Given the description of an element on the screen output the (x, y) to click on. 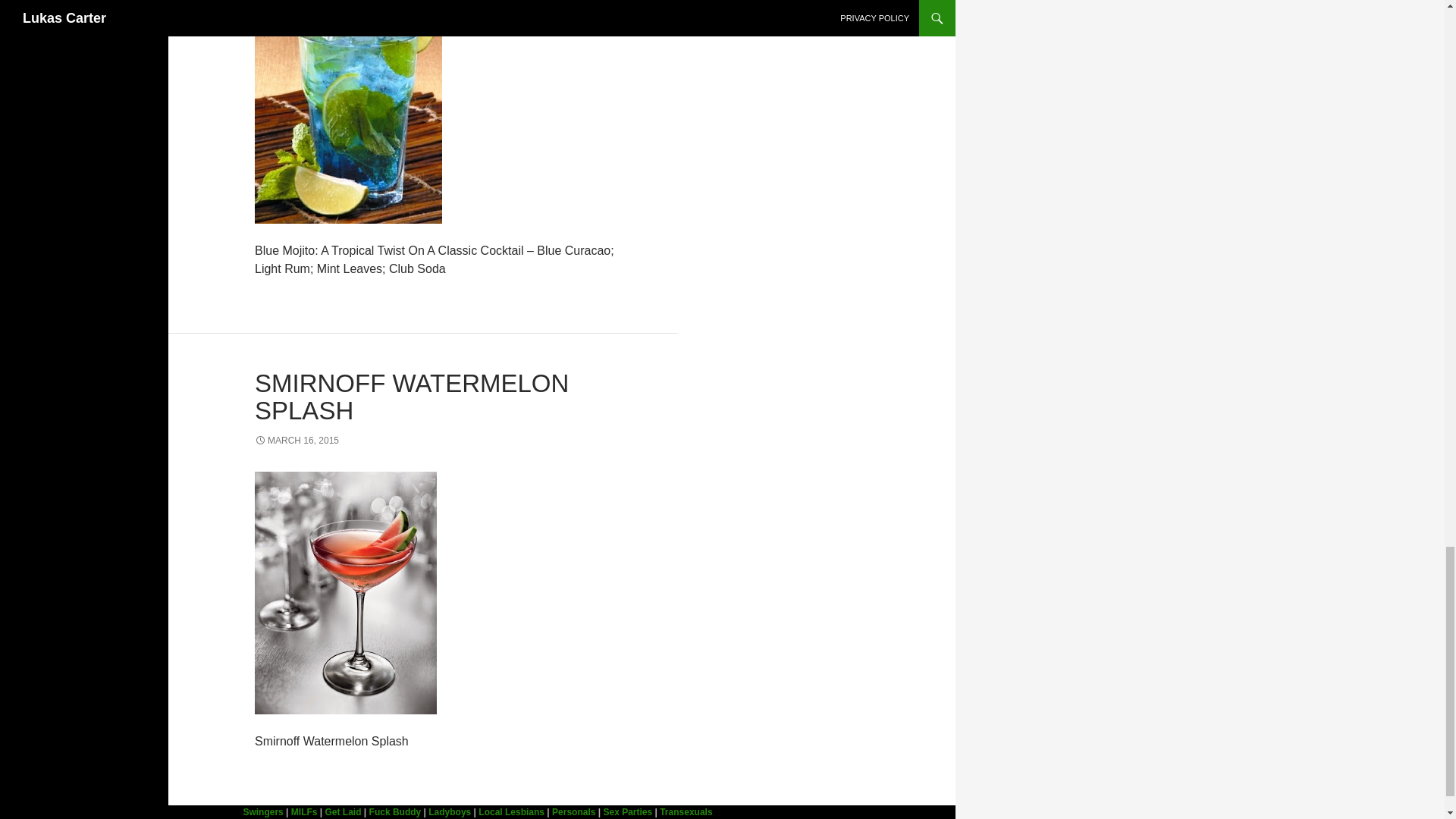
MARCH 16, 2015 (296, 439)
SMIRNOFF WATERMELON SPLASH (411, 397)
